Given the description of an element on the screen output the (x, y) to click on. 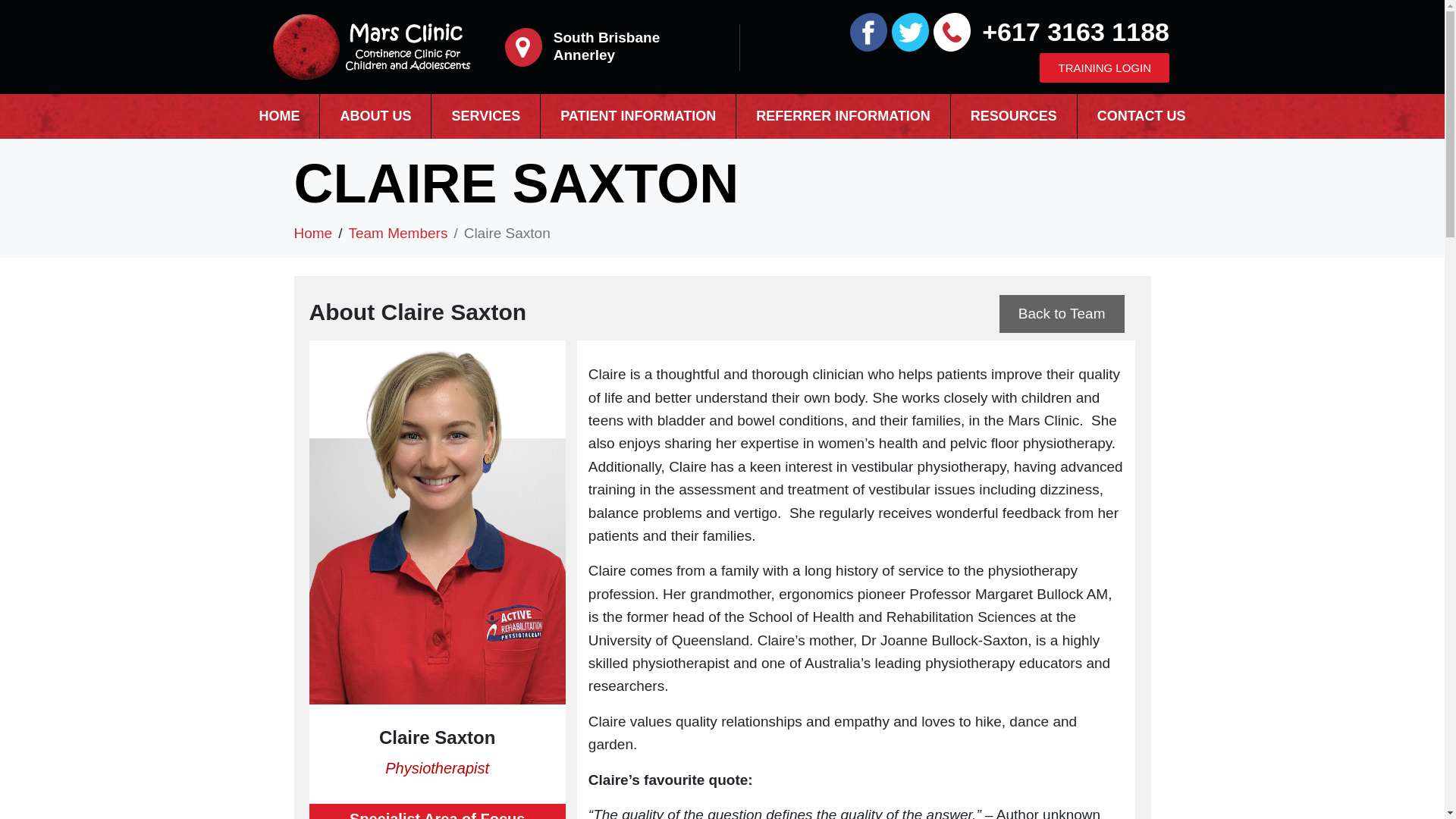
Annerley (583, 54)
South Brisbane (606, 37)
